Given the description of an element on the screen output the (x, y) to click on. 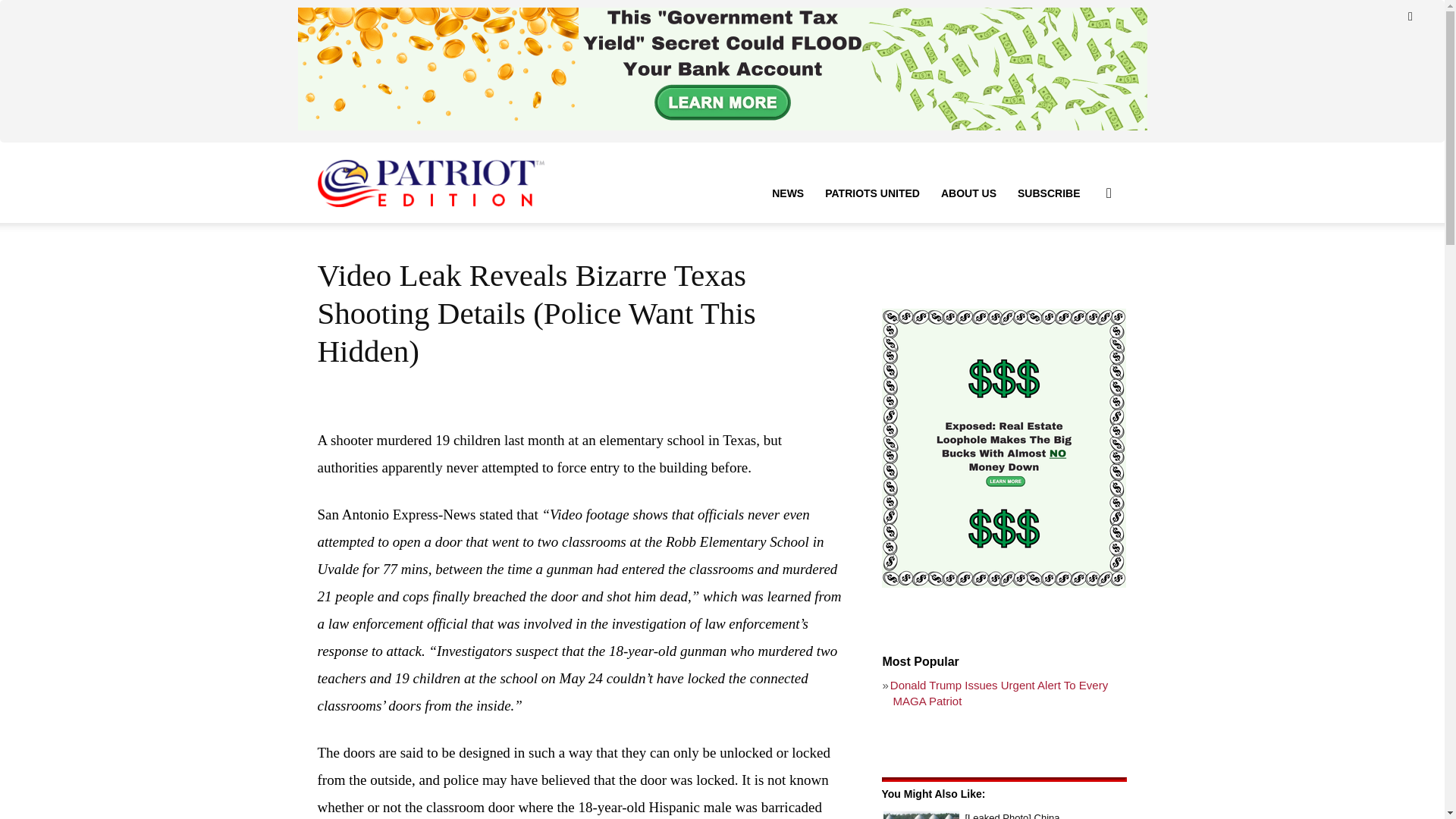
NEWS (787, 192)
Search (1085, 265)
ABOUT US (968, 192)
PATRIOTS UNITED (871, 192)
SUBSCRIBE (1048, 192)
patriotedition (430, 182)
Patriot Edition (430, 182)
